Given the description of an element on the screen output the (x, y) to click on. 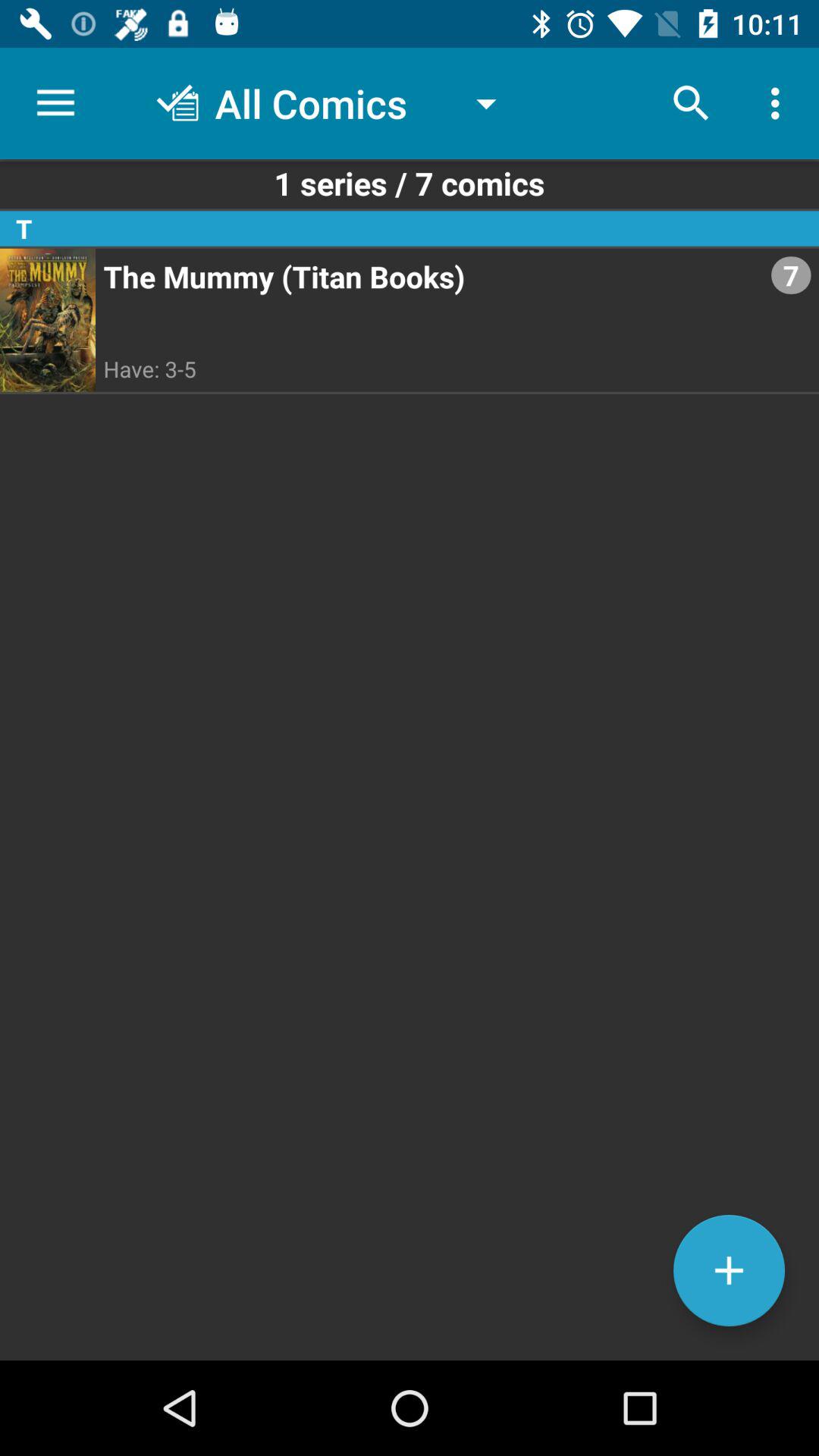
launch item above 1 series 7 (55, 103)
